Given the description of an element on the screen output the (x, y) to click on. 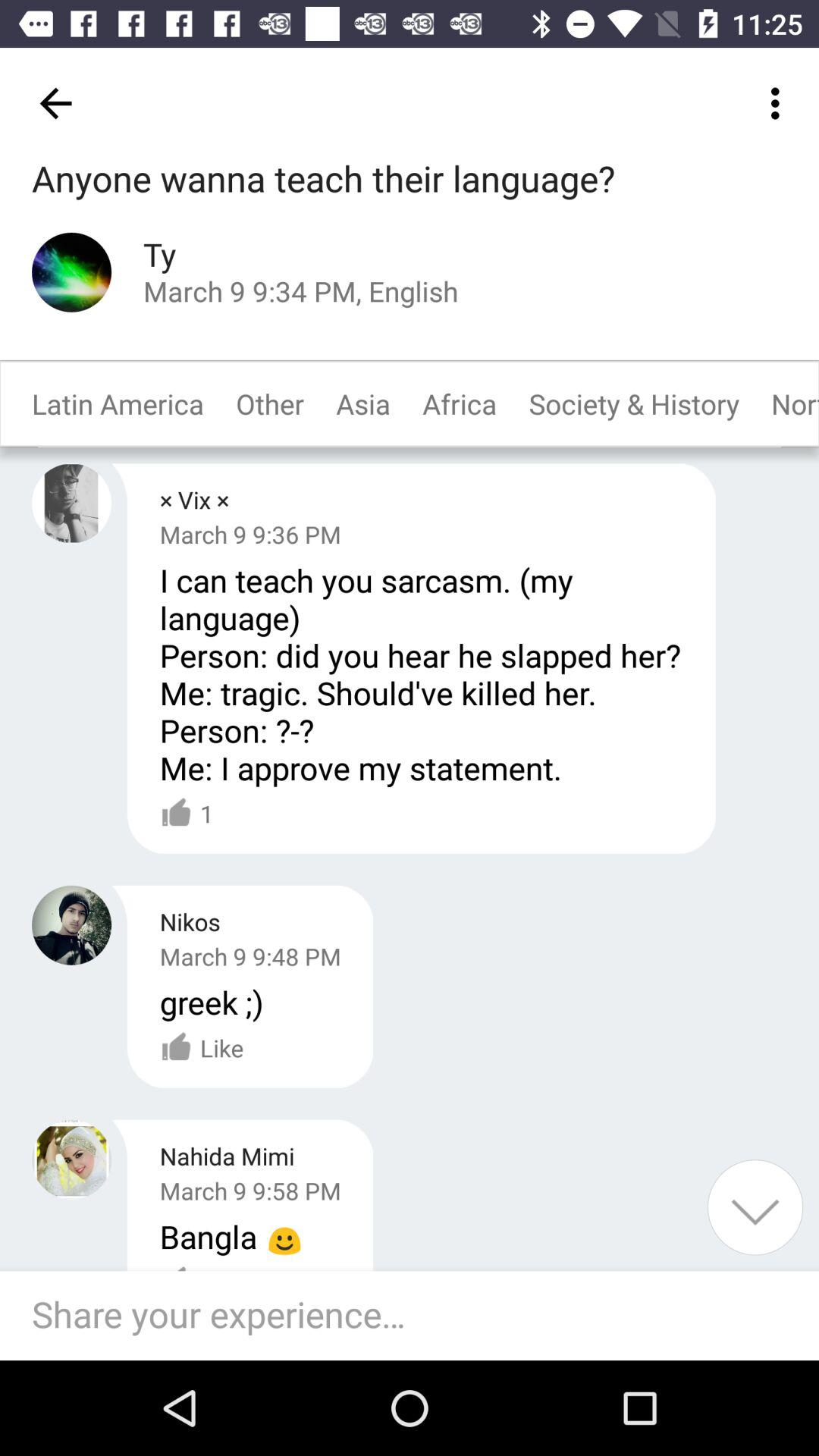
open user image (71, 1159)
